Given the description of an element on the screen output the (x, y) to click on. 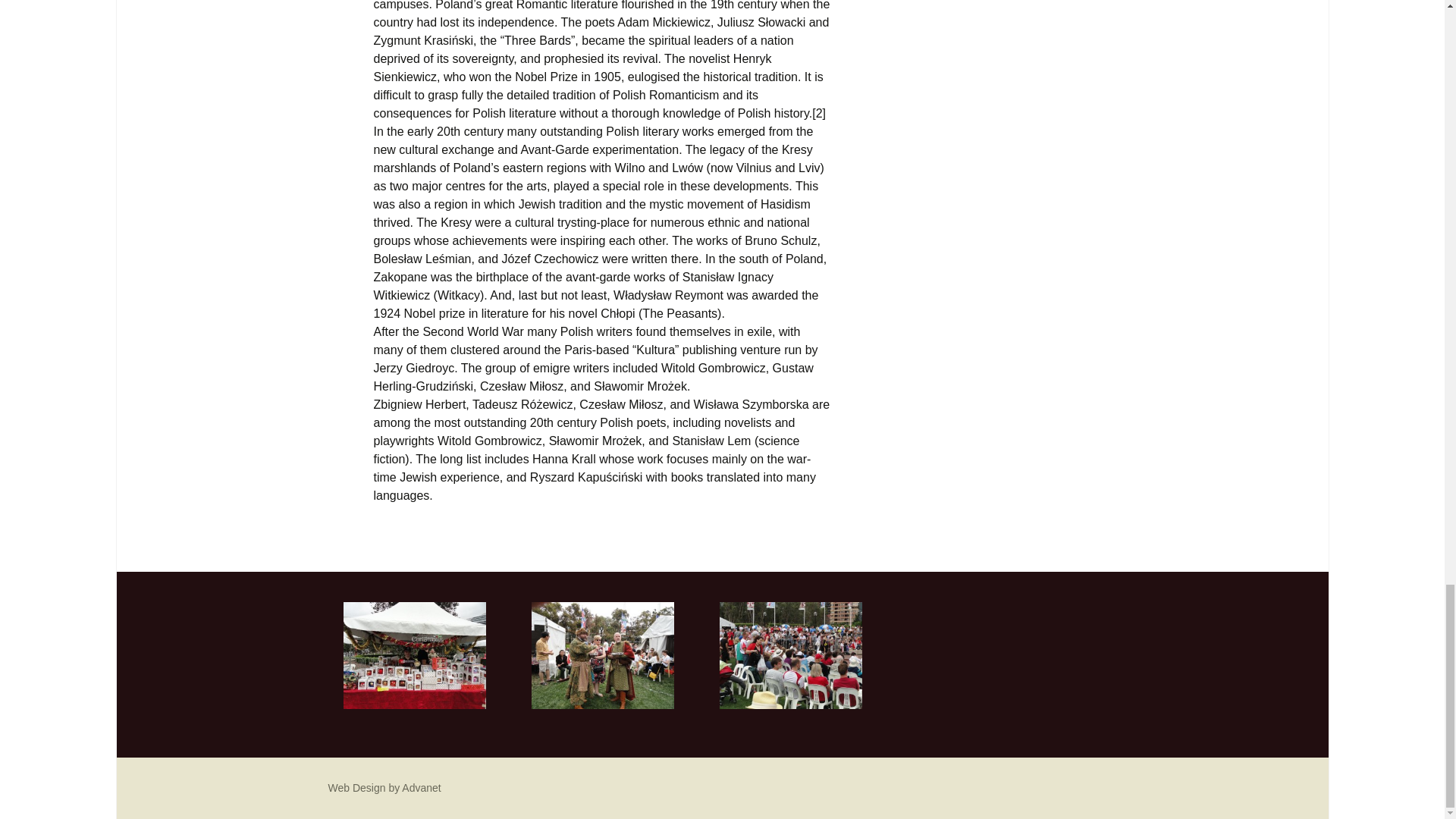
Digital Publishing Platform (384, 787)
Web Design by Advanet (384, 787)
